Given the description of an element on the screen output the (x, y) to click on. 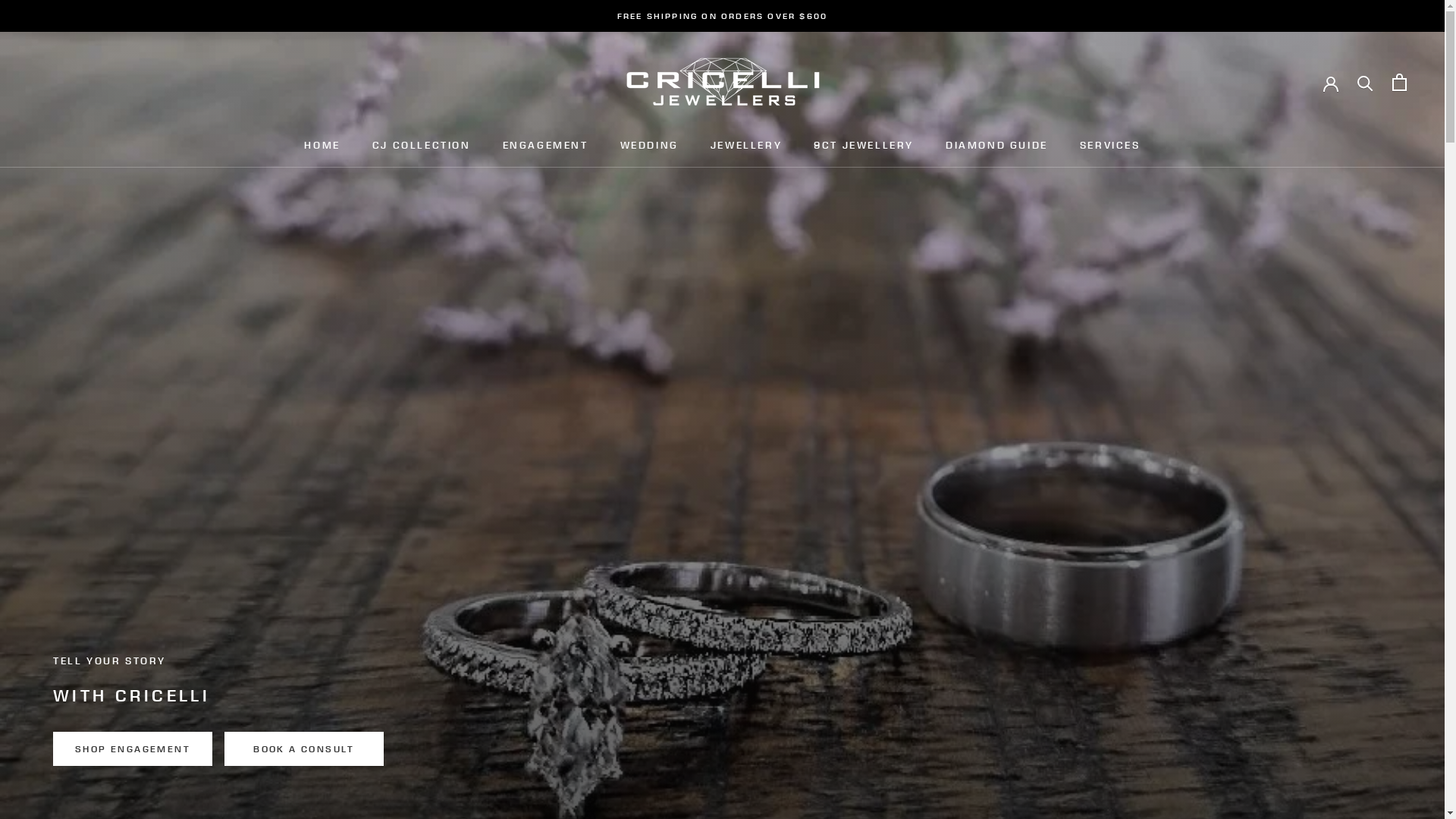
9CT JEWELLERY Element type: text (863, 144)
JEWELLERY Element type: text (745, 144)
CJ COLLECTION Element type: text (421, 144)
SERVICES
SERVICES Element type: text (1109, 144)
ENGAGEMENT Element type: text (545, 144)
HOME
HOME Element type: text (321, 144)
DIAMOND GUIDE
DIAMOND GUIDE Element type: text (996, 144)
BOOK A CONSULT Element type: text (303, 748)
SHOP ENGAGEMENT Element type: text (132, 748)
WEDDING Element type: text (649, 144)
FREE SHIPPING ON ORDERS OVER $600 Element type: text (722, 15)
